Given the description of an element on the screen output the (x, y) to click on. 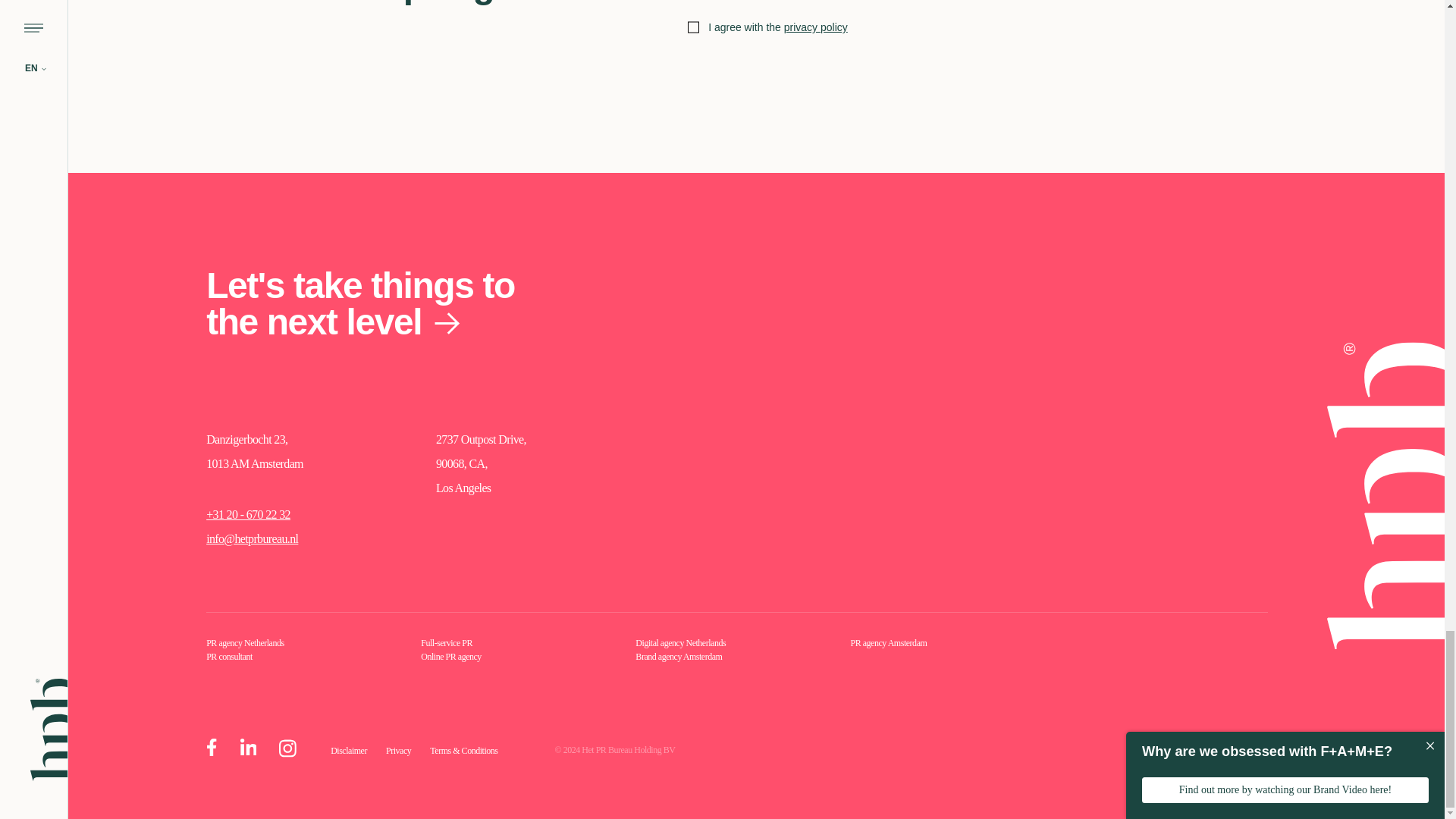
Full-service PR (445, 643)
PR consultant (228, 656)
PR agency Netherlands (244, 643)
Disclaimer (348, 750)
Online PR agency (450, 656)
Brand agency Amsterdam (678, 656)
Privacy (397, 750)
PR agency Amsterdam (888, 643)
privacy policy (815, 27)
Digital agency Netherlands (679, 643)
Let's take things to the next level (376, 303)
